Given the description of an element on the screen output the (x, y) to click on. 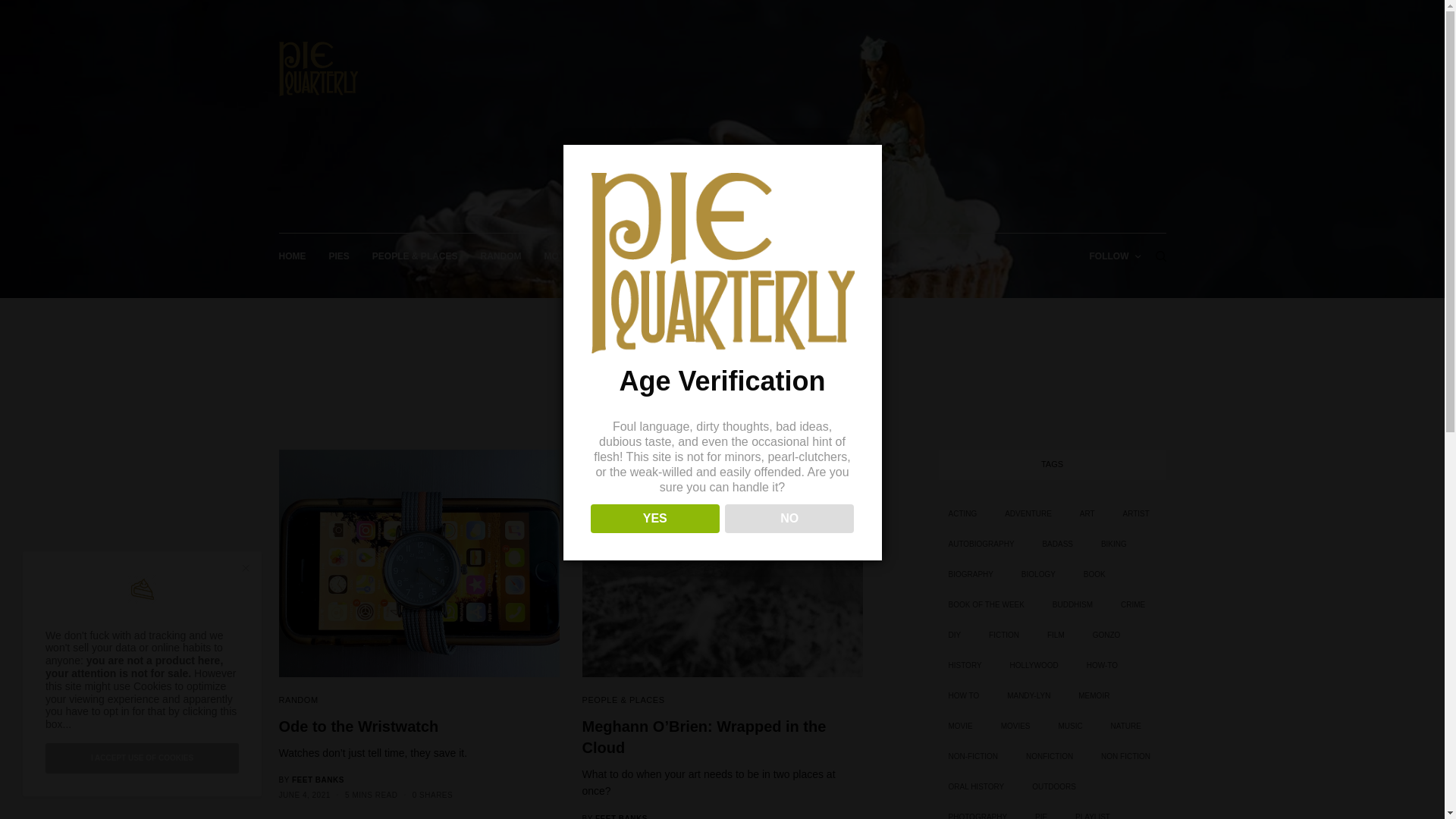
Ode to the Wristwatch (419, 726)
RANDOM (500, 256)
FEET BANKS (621, 816)
Posts by Feet Banks (621, 816)
ACTING (963, 513)
FEET BANKS (317, 779)
RANDOM (298, 699)
Posts by Feet Banks (317, 779)
Ode to the Wristwatch (419, 726)
Pie Quarterly (318, 68)
